Given the description of an element on the screen output the (x, y) to click on. 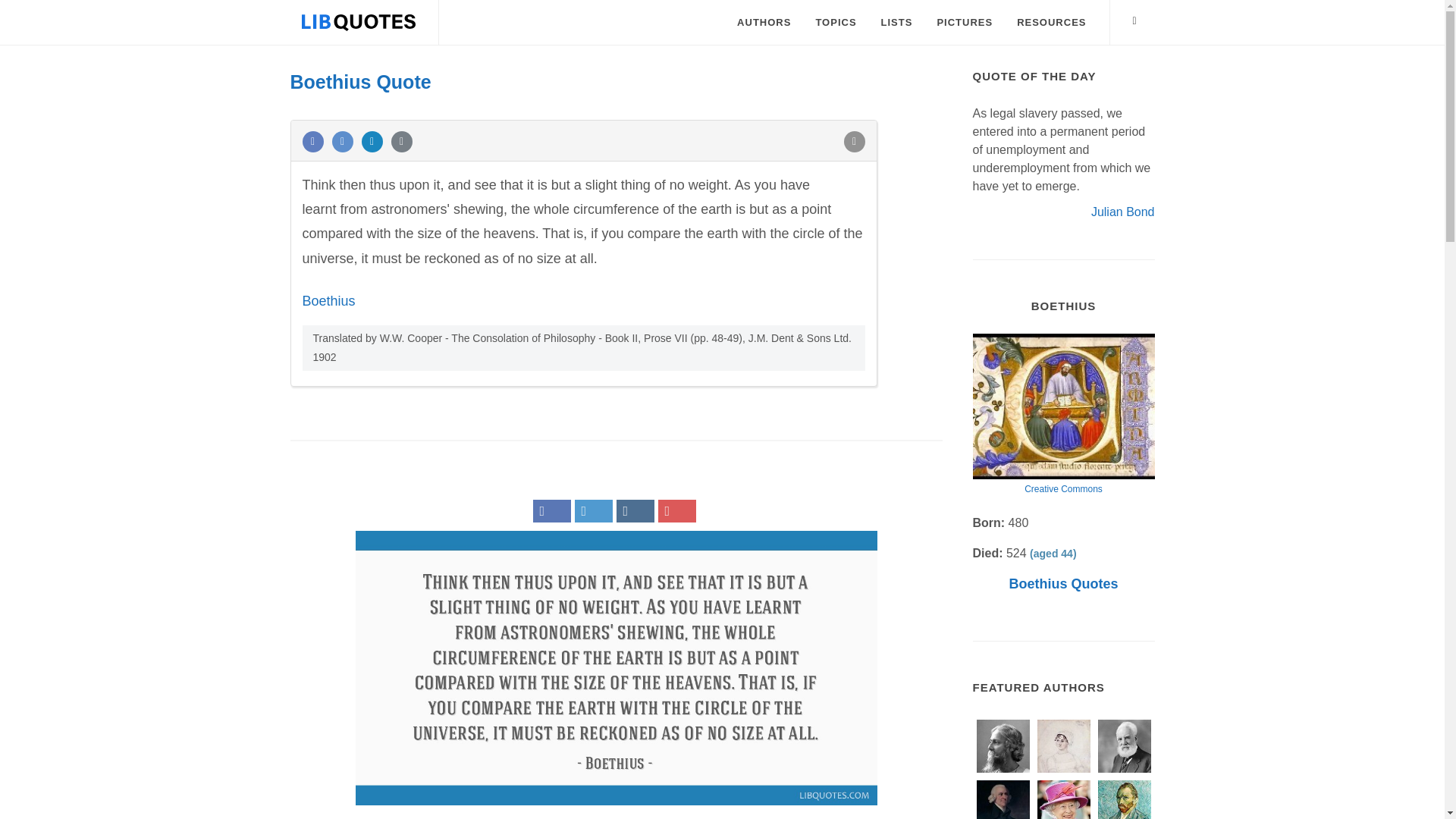
AUTHORS (763, 22)
PICTURES (964, 22)
LISTS (896, 22)
TOPICS (835, 22)
Boethius Quotes (1063, 583)
Boethius (328, 300)
Creative Commons (1063, 489)
RESOURCES (1051, 22)
Julian Bond (1122, 210)
